Given the description of an element on the screen output the (x, y) to click on. 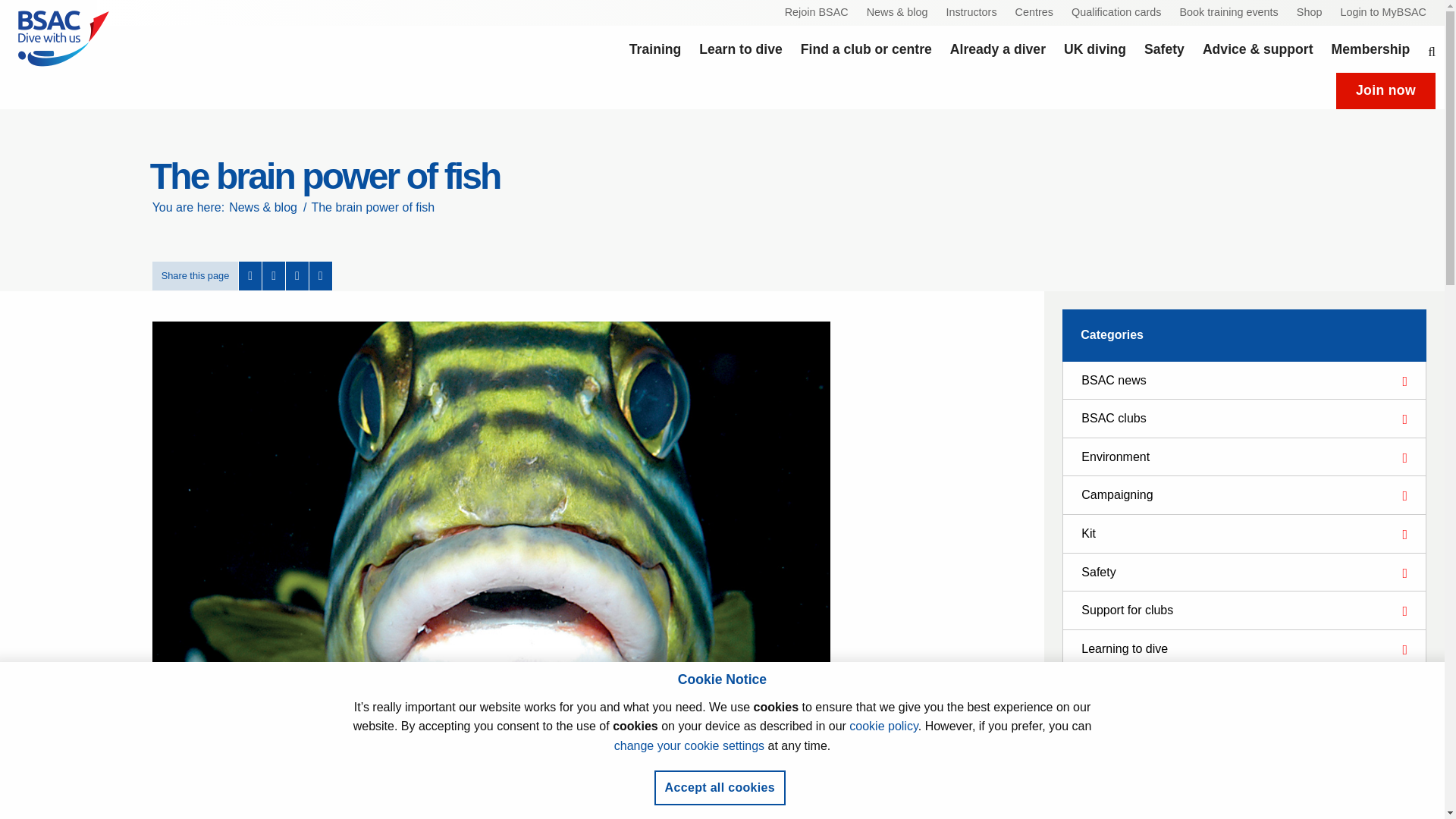
Rejoin BSAC (816, 12)
Book training events (1228, 12)
Instructors (969, 12)
Training (655, 48)
Qualification cards (1115, 12)
Centres (1033, 12)
Shop (1309, 12)
Login to MyBSAC (1382, 12)
